Given the description of an element on the screen output the (x, y) to click on. 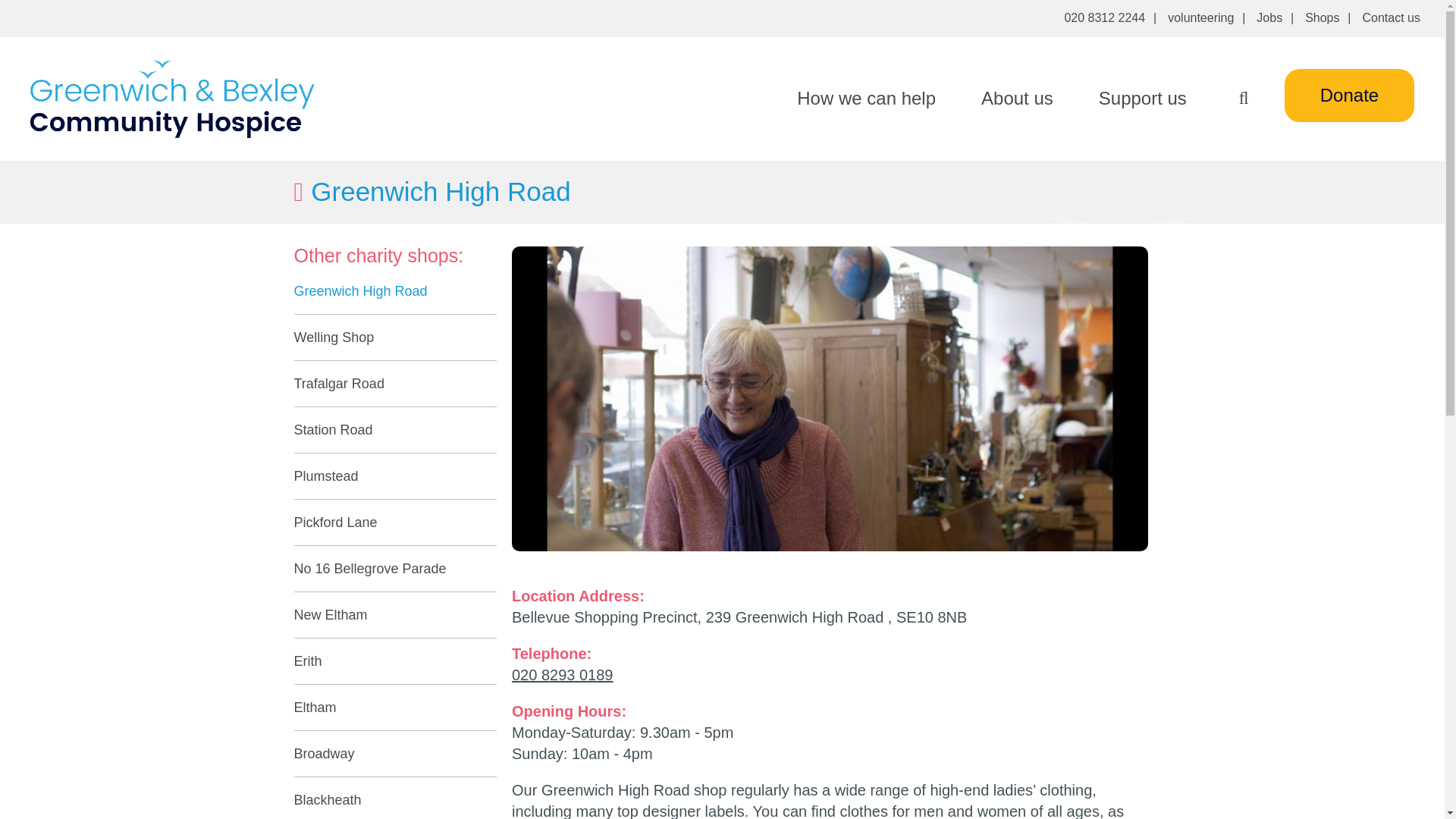
volunteering (1200, 17)
About us (1016, 97)
Support us (1142, 97)
How we can help (866, 97)
Shops (1321, 17)
Jobs (1269, 17)
Contact us (1391, 17)
020 8312 2244 (1104, 17)
